Given the description of an element on the screen output the (x, y) to click on. 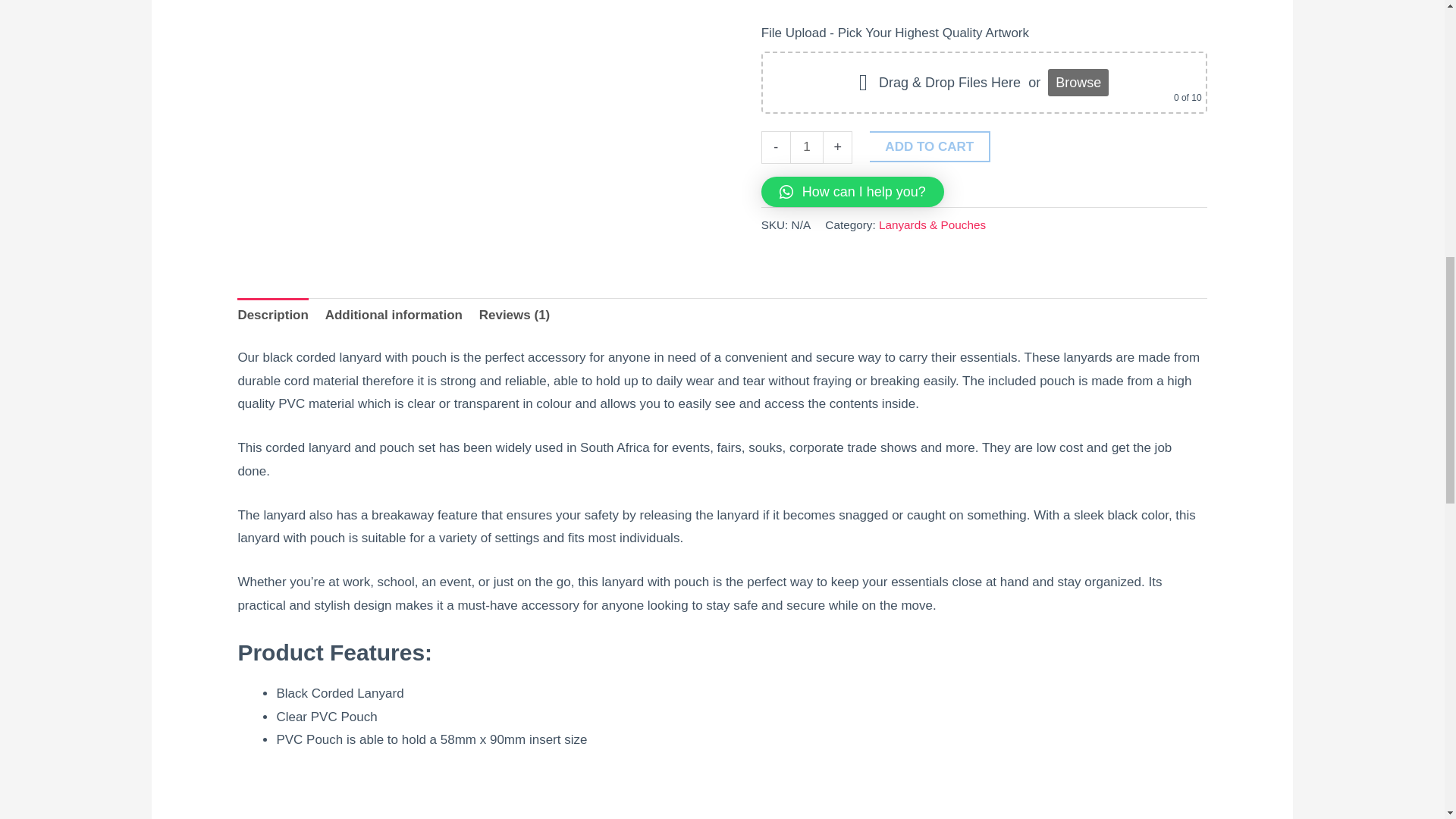
1 (807, 147)
